Given the description of an element on the screen output the (x, y) to click on. 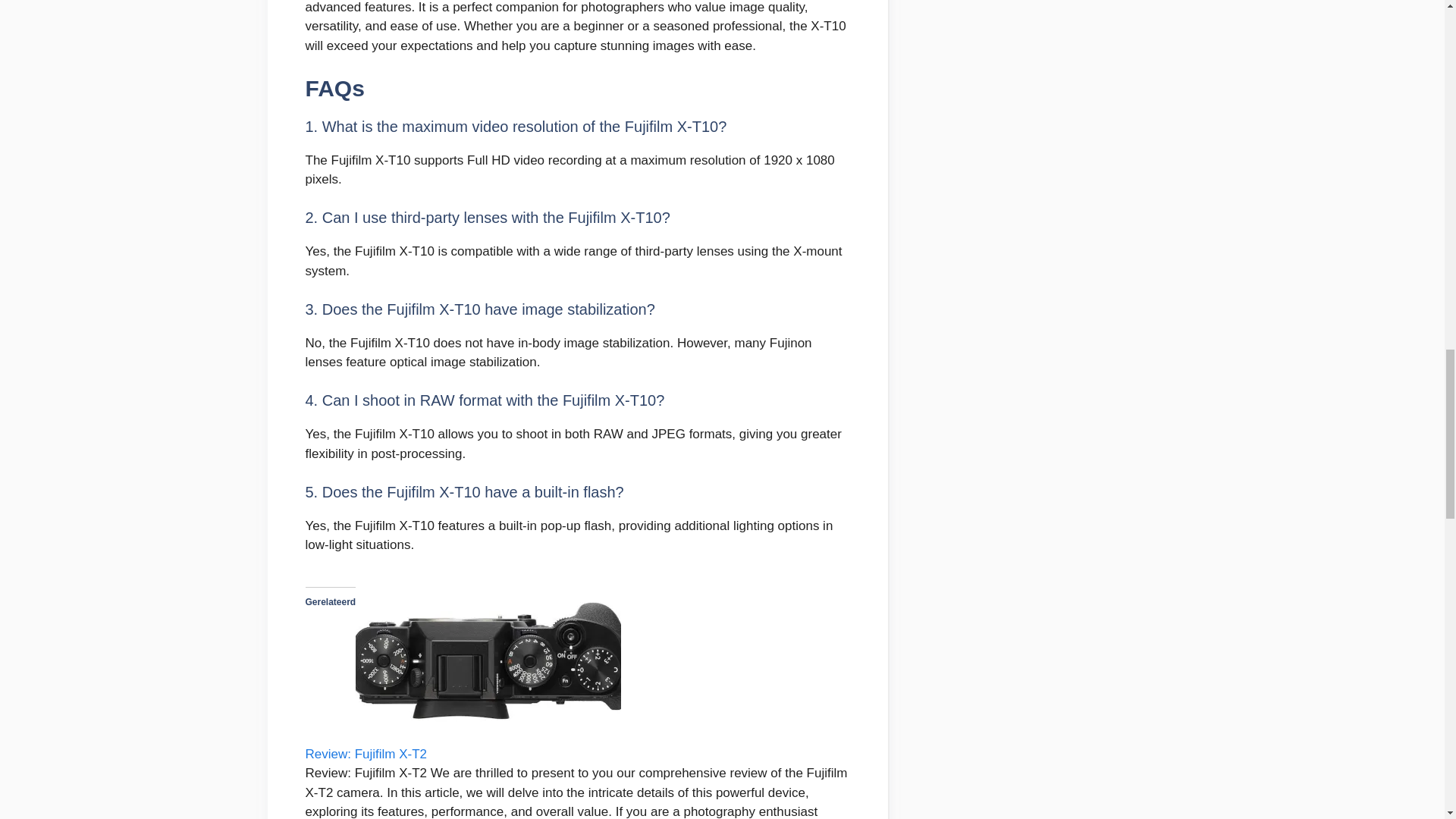
Review: Fujifilm X-T2 (365, 753)
Review: Fujifilm X-T2 (488, 734)
Review: Fujifilm X-T2 (365, 753)
